Given the description of an element on the screen output the (x, y) to click on. 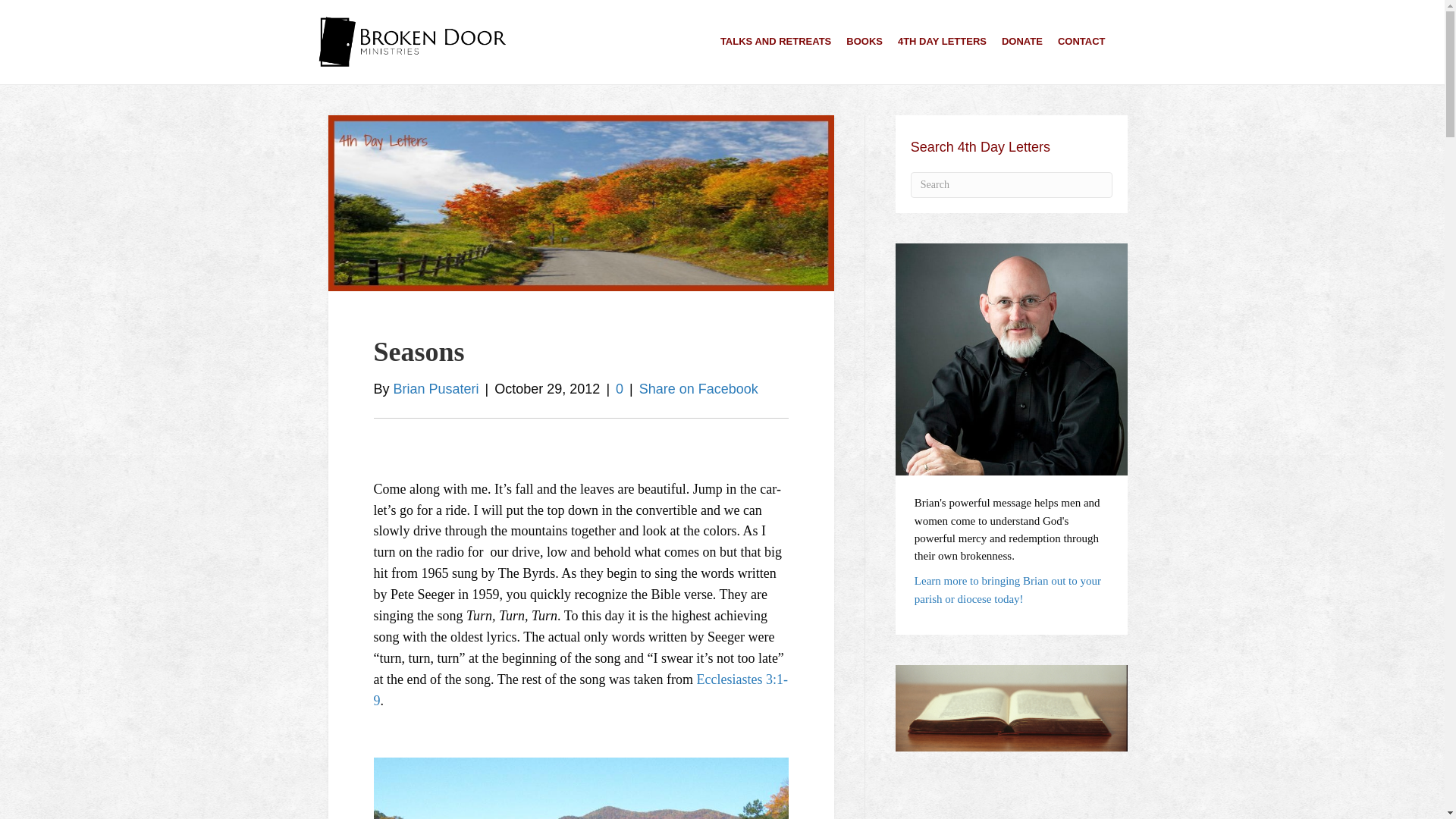
Share on Facebook (698, 388)
BOOKS (863, 41)
Ecclesiastes 3:1-9 (579, 689)
Type and press Enter to search. (1012, 184)
TALKS AND RETREATS (775, 41)
CONTACT (1081, 41)
DONATE (1021, 41)
4TH DAY LETTERS (941, 41)
Brian Pusateri (436, 388)
